Given the description of an element on the screen output the (x, y) to click on. 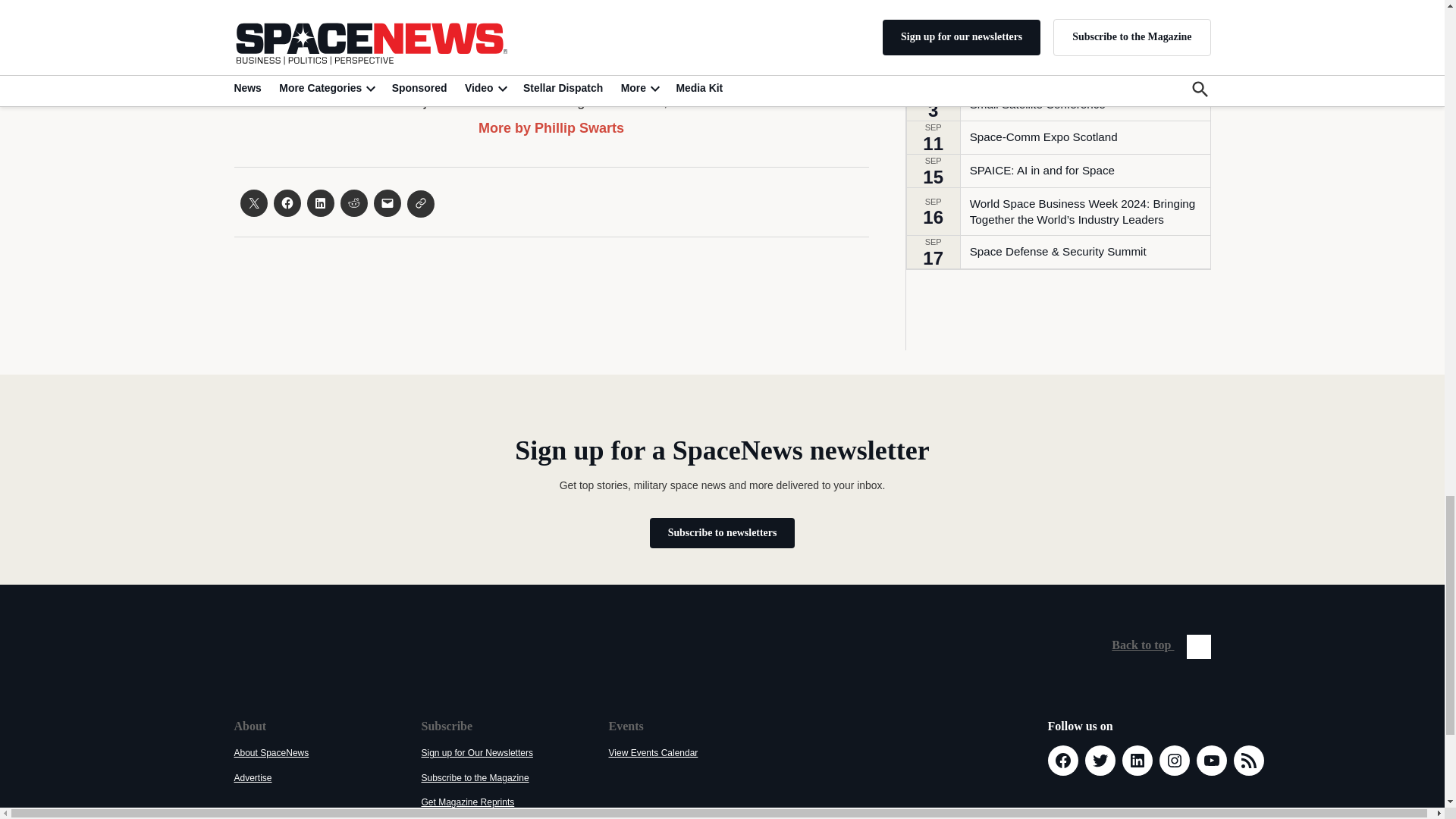
Click to share on LinkedIn (319, 203)
Click to share on Reddit (352, 203)
Click to email a link to a friend (386, 203)
Click to share on X (253, 203)
Click to share on Facebook (286, 203)
Click to share on Clipboard (419, 203)
Small Satellite Conference (1037, 104)
